Given the description of an element on the screen output the (x, y) to click on. 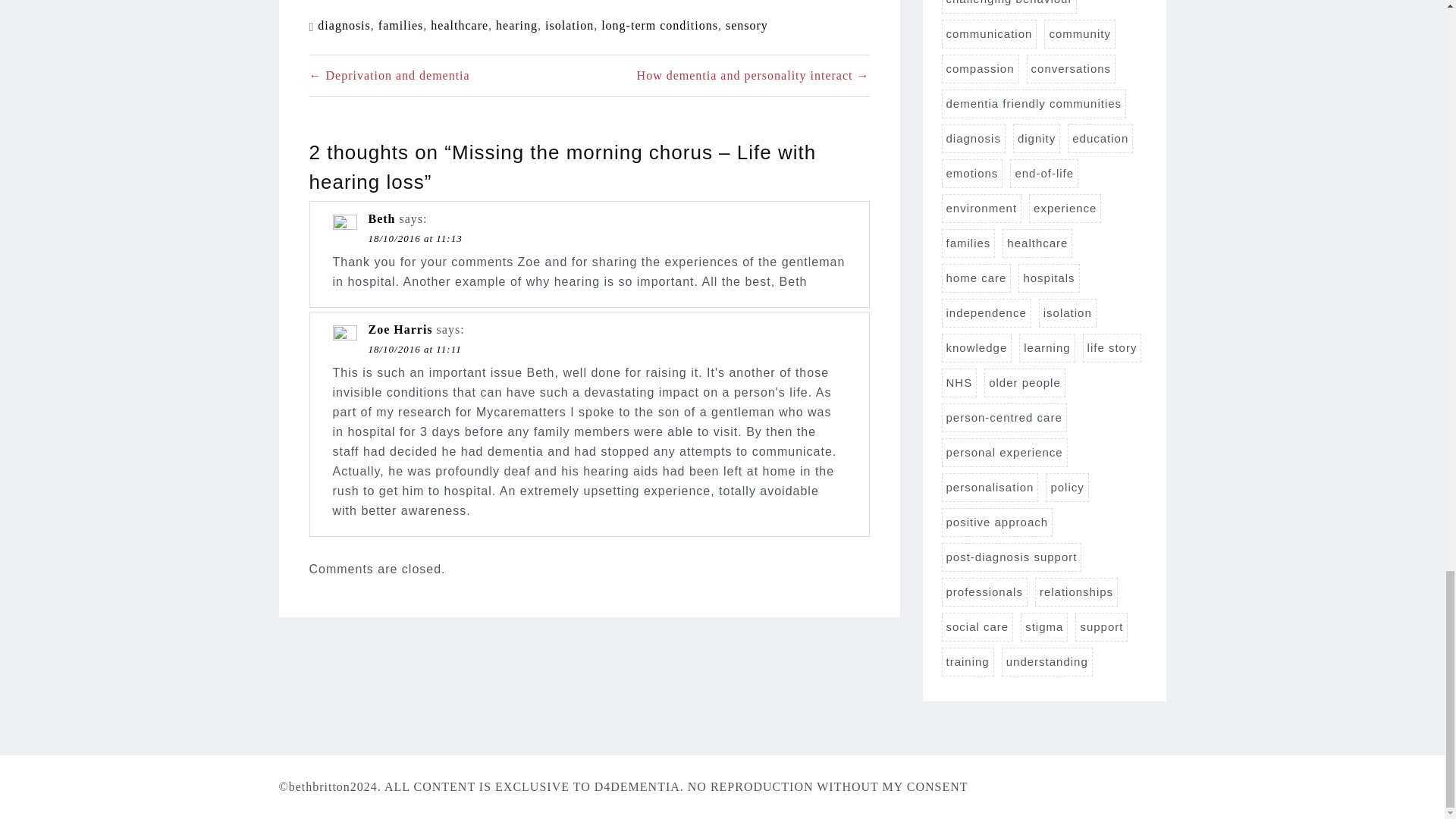
communication (989, 33)
diagnosis (343, 24)
families (400, 24)
community (1079, 33)
Zoe Harris (400, 328)
Beth (382, 218)
long-term conditions (659, 24)
isolation (569, 24)
sensory (746, 24)
challenging behaviour (1009, 6)
